Given the description of an element on the screen output the (x, y) to click on. 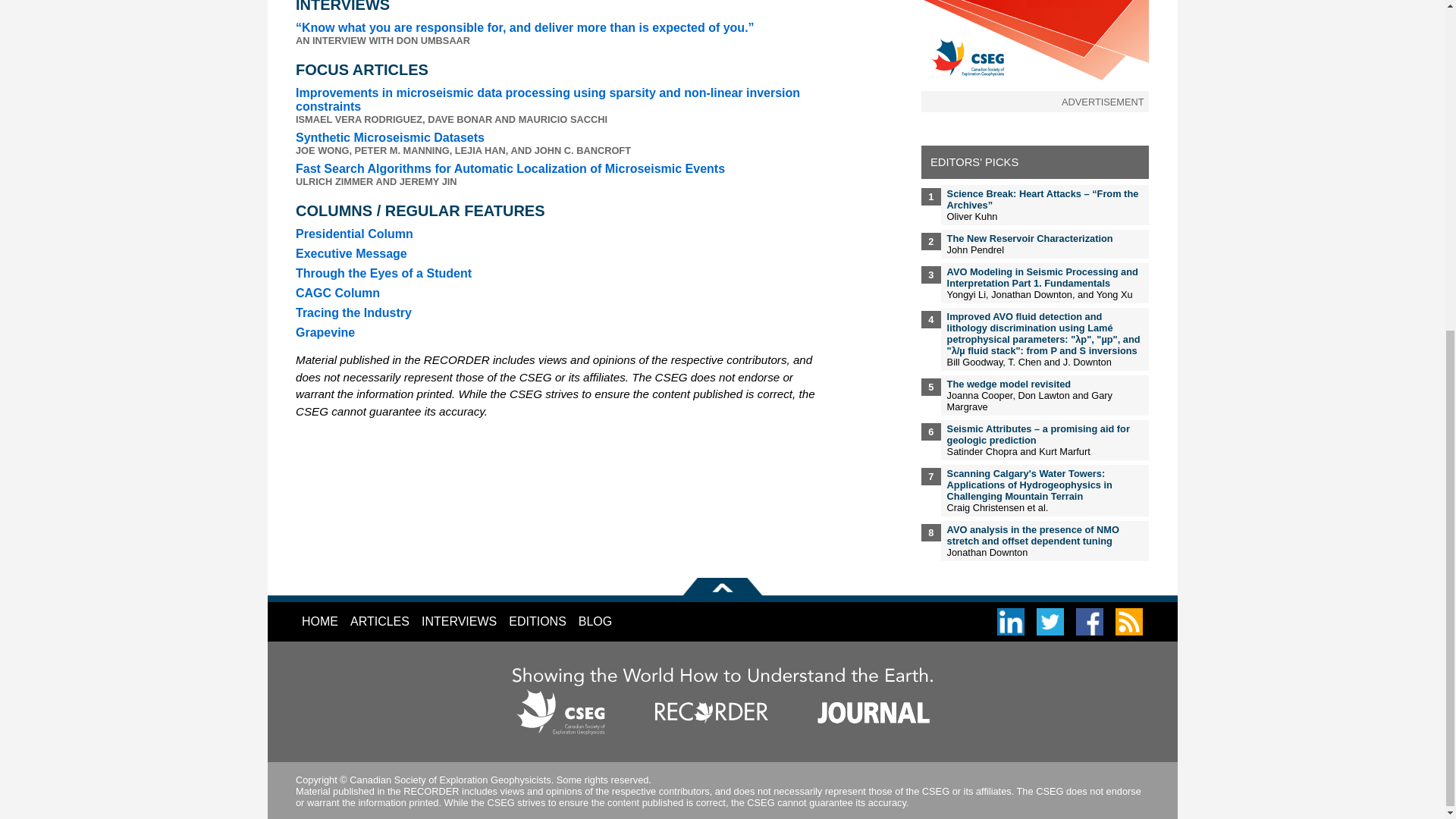
CAGC Column (337, 292)
ARTICLES (378, 621)
Presidential Column (354, 233)
The wedge model revisited (1009, 383)
Tracing the Industry (353, 312)
Through the Eyes of a Student (383, 273)
